Given the description of an element on the screen output the (x, y) to click on. 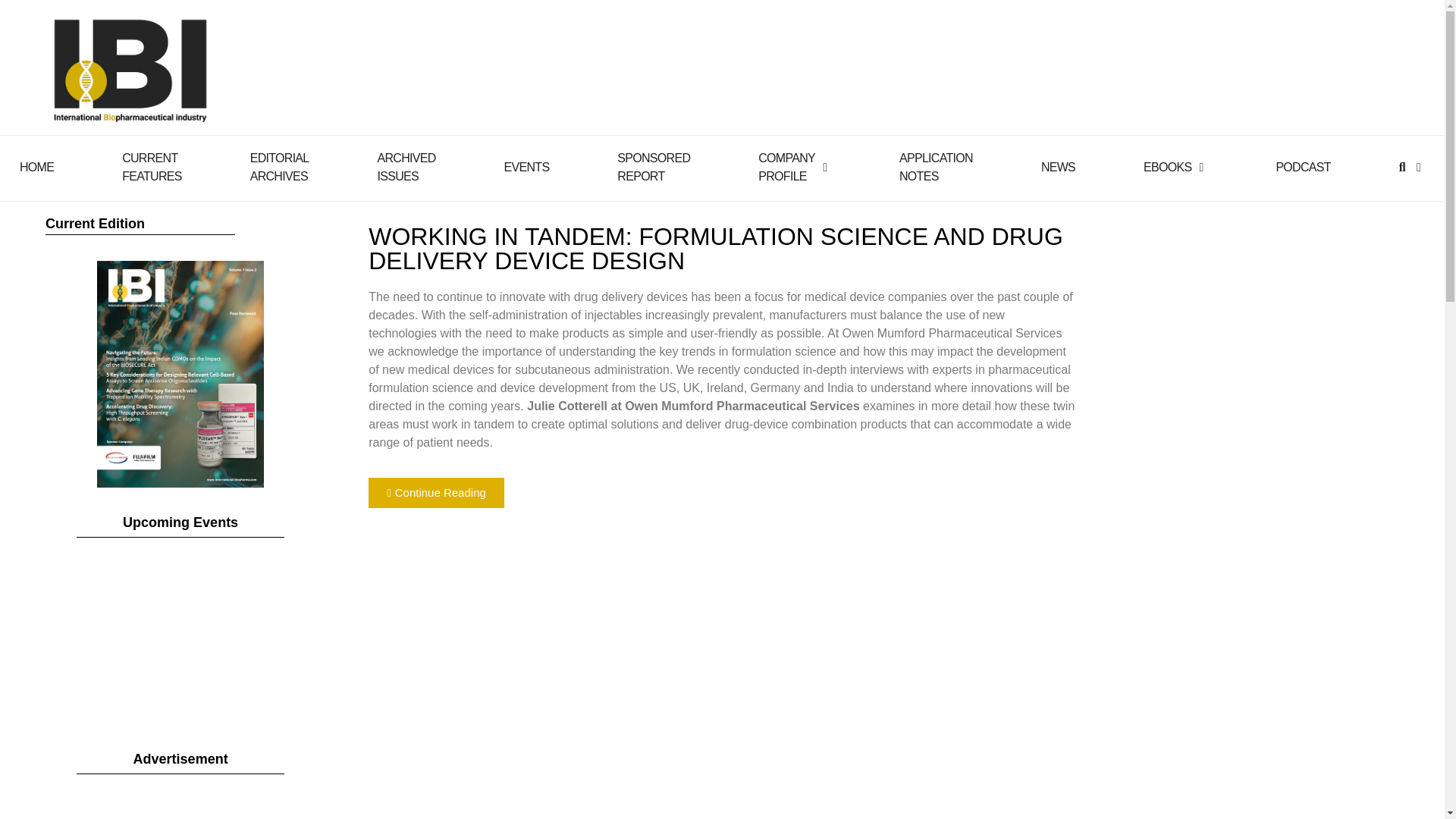
EVENTS (786, 167)
NEWS (526, 167)
HOME (406, 167)
PODCAST (279, 167)
